Given the description of an element on the screen output the (x, y) to click on. 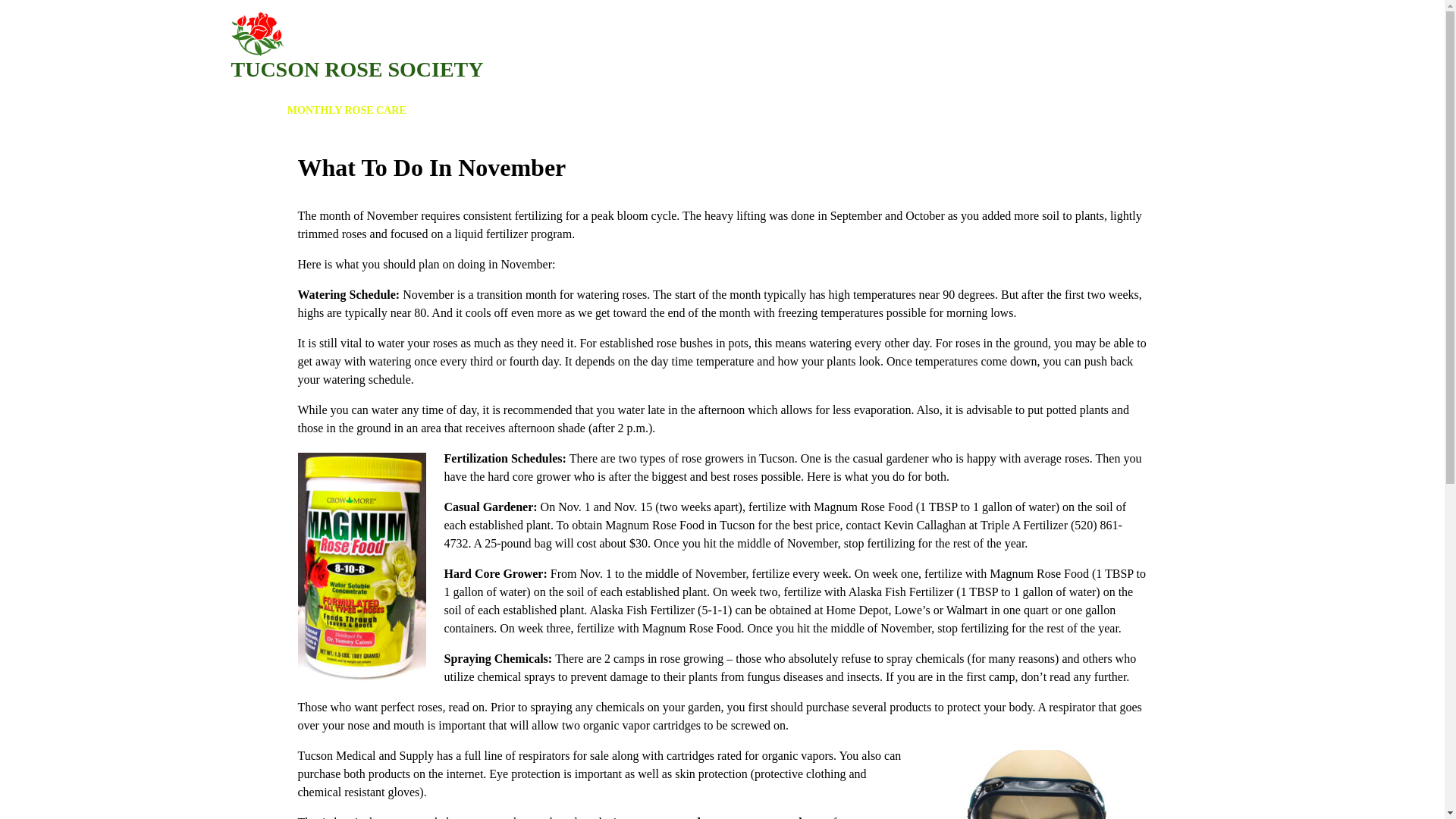
HELPFUL LINKS (727, 110)
JOIN US (527, 110)
TUCSON ROSE SOCIETY (356, 69)
ROSE SHOWS (456, 110)
TUCSON ROSE SOCIETY (356, 69)
10 GREAT ARTICLES (617, 110)
CONTACT US (819, 110)
MONTHLY ROSE CARE (346, 110)
HOME (254, 110)
